Given the description of an element on the screen output the (x, y) to click on. 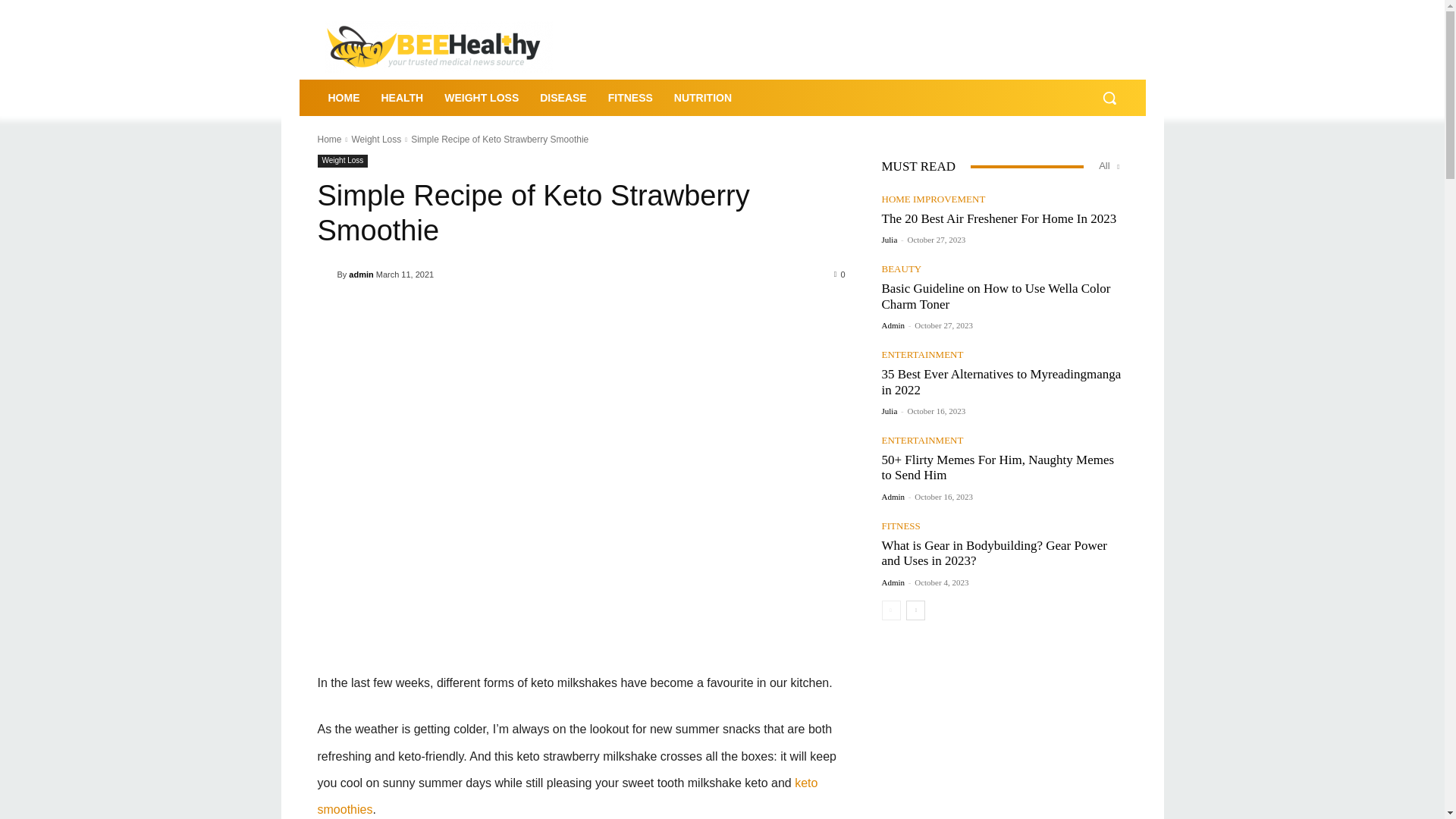
FITNESS (629, 97)
NUTRITION (702, 97)
HEALTH (401, 97)
WEIGHT LOSS (481, 97)
Weight Loss (375, 139)
admin (326, 273)
Home (328, 139)
HOME (343, 97)
admin (360, 273)
Weight Loss (342, 160)
